Given the description of an element on the screen output the (x, y) to click on. 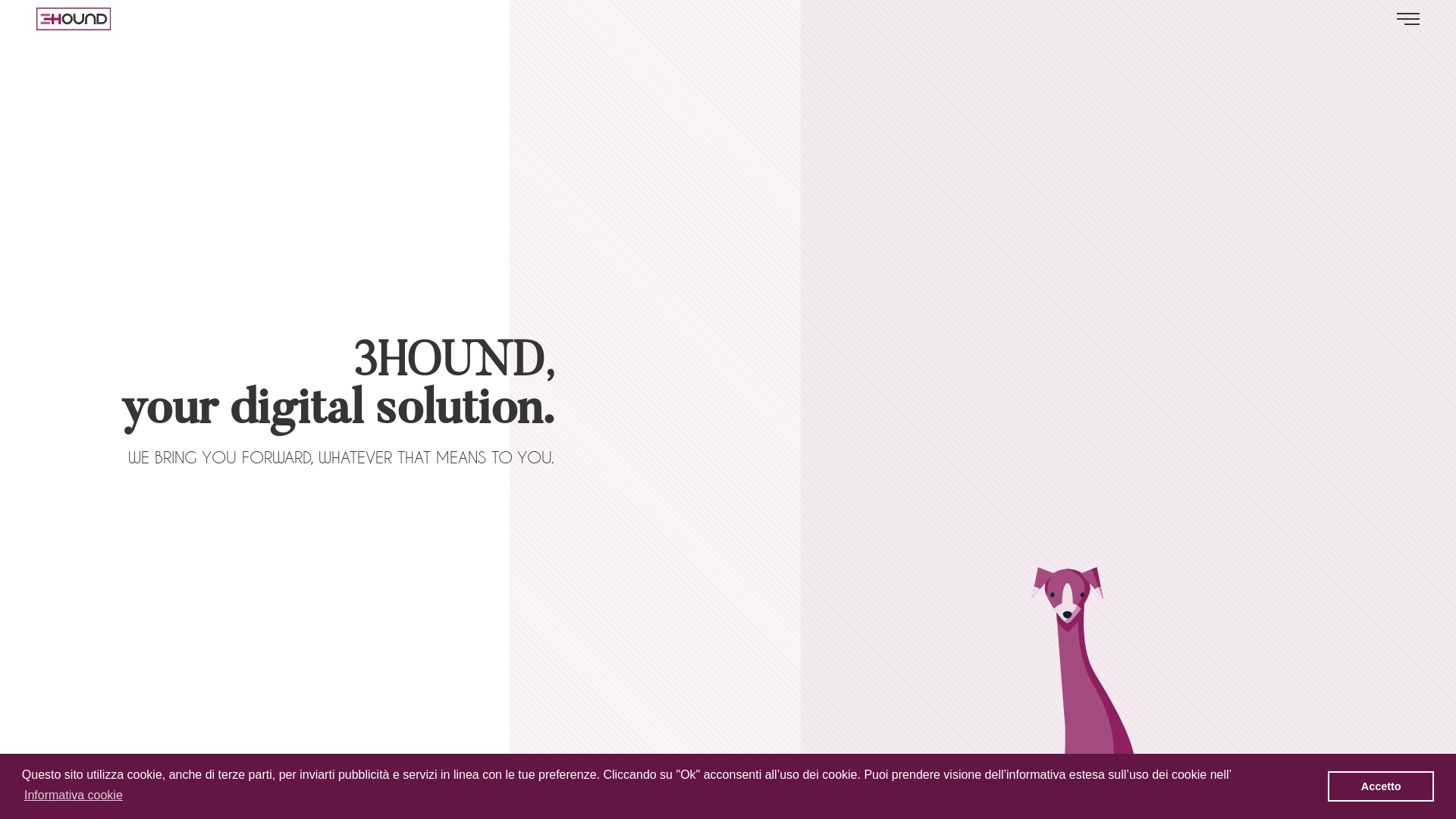
Accetto Element type: text (1380, 786)
Informativa cookie Element type: text (73, 795)
